Given the description of an element on the screen output the (x, y) to click on. 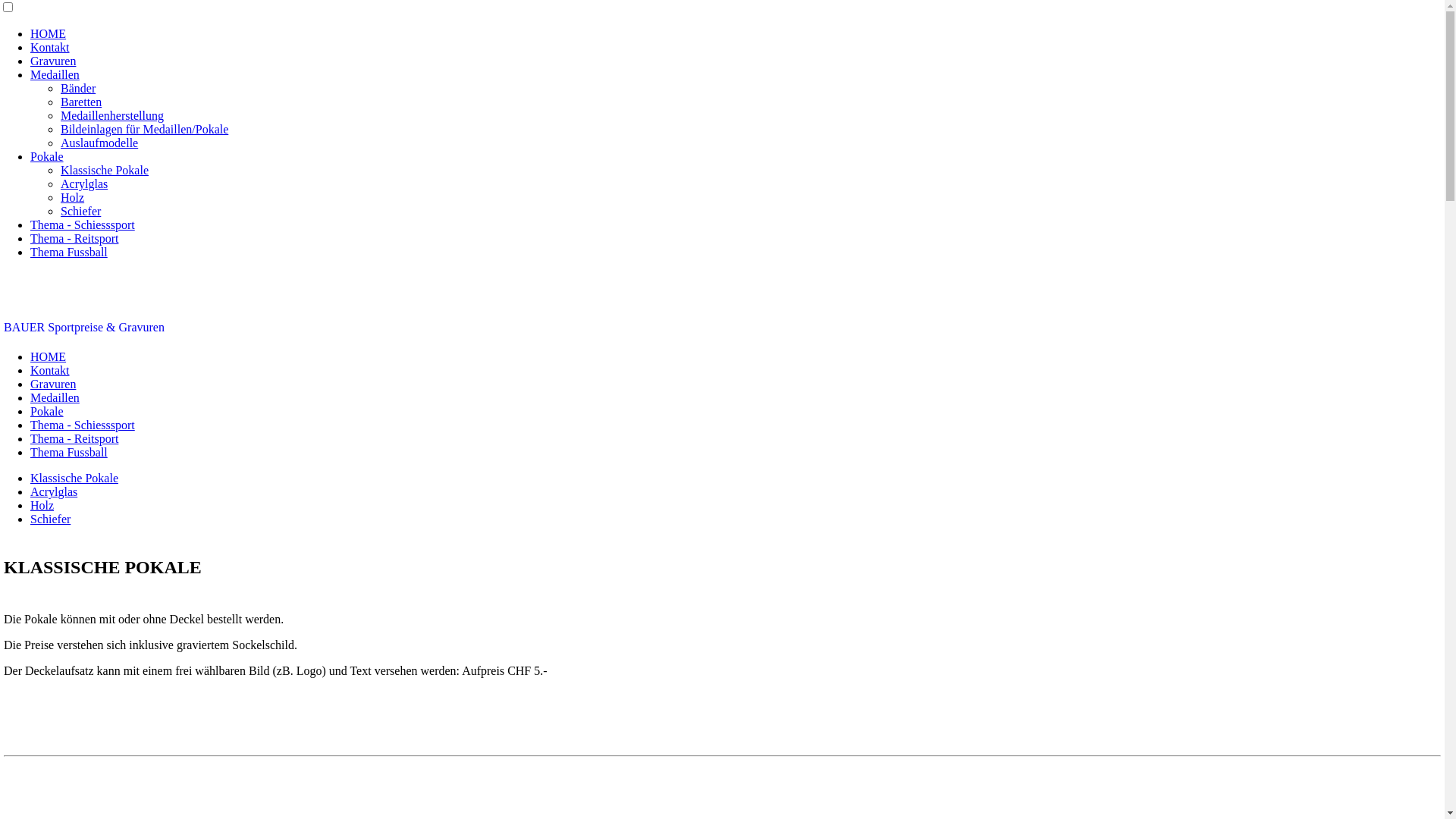
Gravuren Element type: text (52, 60)
Pokale Element type: text (46, 410)
Schiefer Element type: text (80, 210)
Klassische Pokale Element type: text (74, 477)
Baretten Element type: text (80, 101)
Kontakt Element type: text (49, 46)
HOME Element type: text (47, 356)
Holz Element type: text (72, 197)
BAUER Sportpreise & Gravuren Element type: text (83, 326)
Kontakt Element type: text (49, 370)
Thema - Reitsport Element type: text (74, 238)
Acrylglas Element type: text (53, 491)
Thema - Schiesssport Element type: text (82, 224)
Thema Fussball Element type: text (68, 451)
Gravuren Element type: text (52, 383)
Klassische Pokale Element type: text (104, 169)
Thema - Schiesssport Element type: text (82, 424)
Acrylglas Element type: text (83, 183)
Medaillenherstellung Element type: text (111, 115)
Pokale Element type: text (46, 156)
Auslaufmodelle Element type: text (99, 142)
Medaillen Element type: text (54, 397)
Thema Fussball Element type: text (68, 251)
Medaillen Element type: text (54, 74)
Holz Element type: text (41, 504)
Schiefer Element type: text (50, 518)
HOME Element type: text (47, 33)
Thema - Reitsport Element type: text (74, 438)
